Given the description of an element on the screen output the (x, y) to click on. 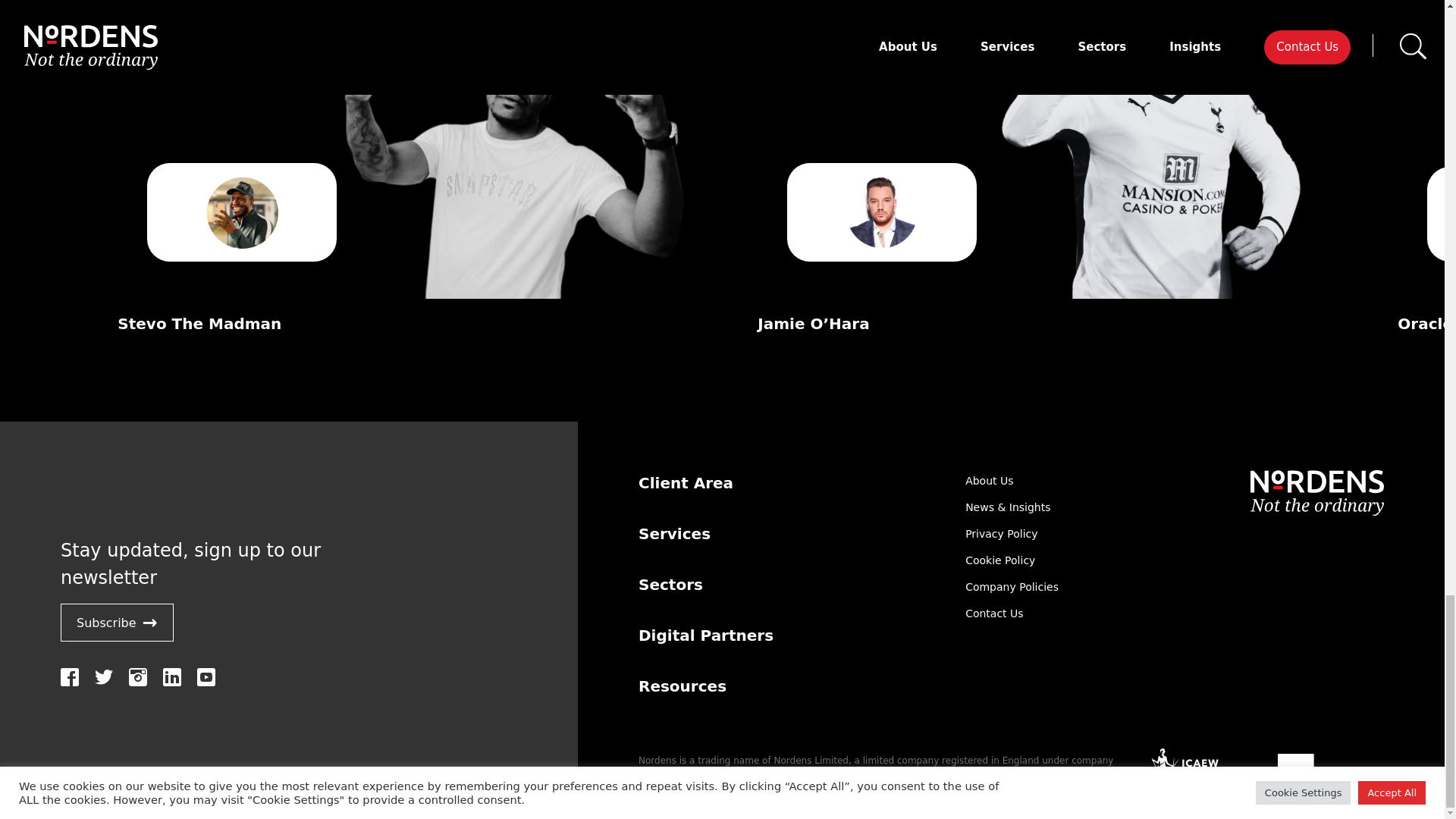
Subscribe to Nordens on YouTube (205, 677)
Follow Nordens on Twitter (103, 677)
Follow Nordens on Instagram (138, 677)
Connect with Nordens on LinkedIn (171, 677)
Like Nordens on Facebook (69, 677)
